Given the description of an element on the screen output the (x, y) to click on. 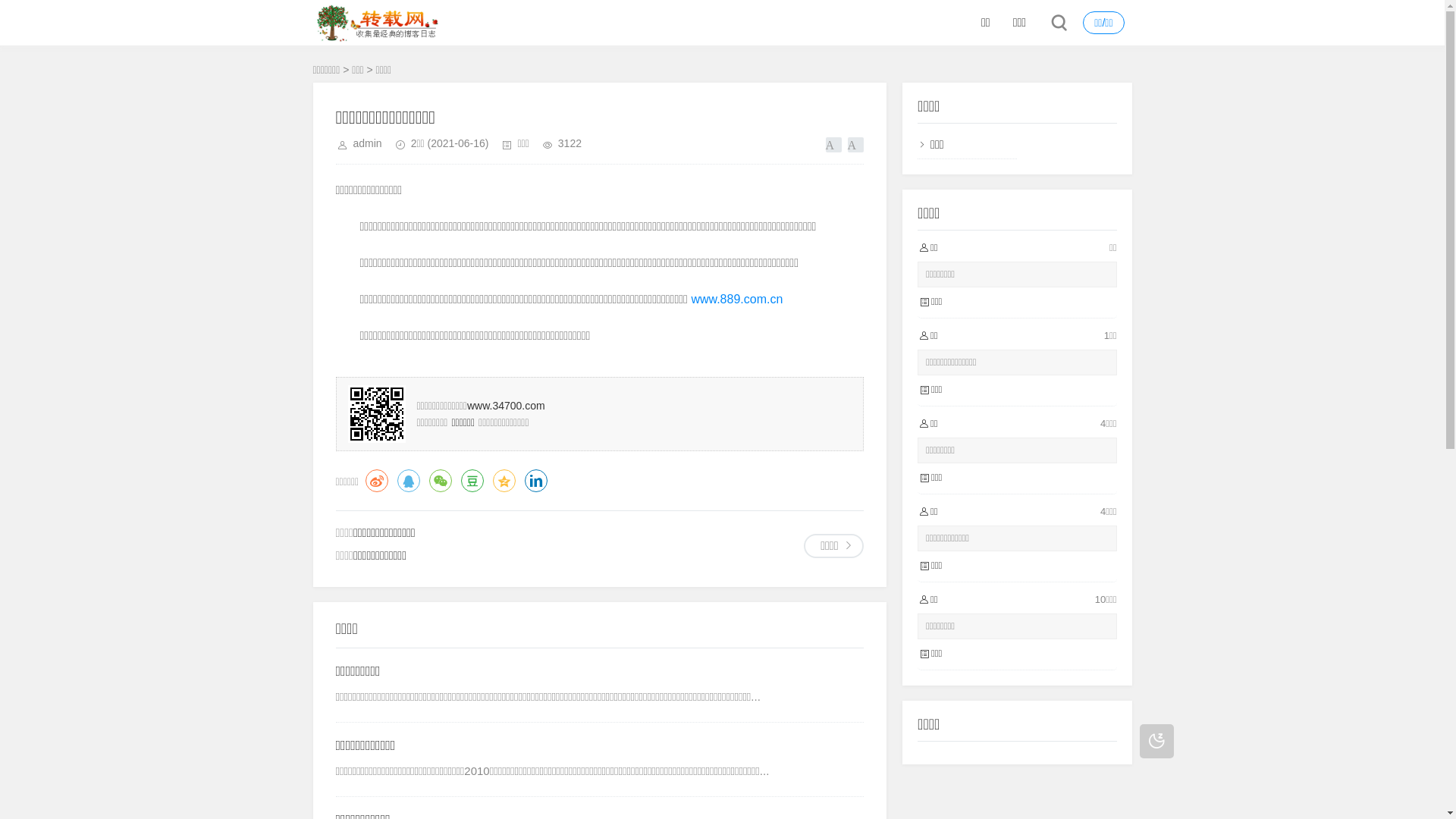
www.889.com.cn Element type: text (736, 298)
QQ Element type: text (408, 480)
www.34700.com Element type: text (506, 405)
admin Element type: text (367, 143)
